Given the description of an element on the screen output the (x, y) to click on. 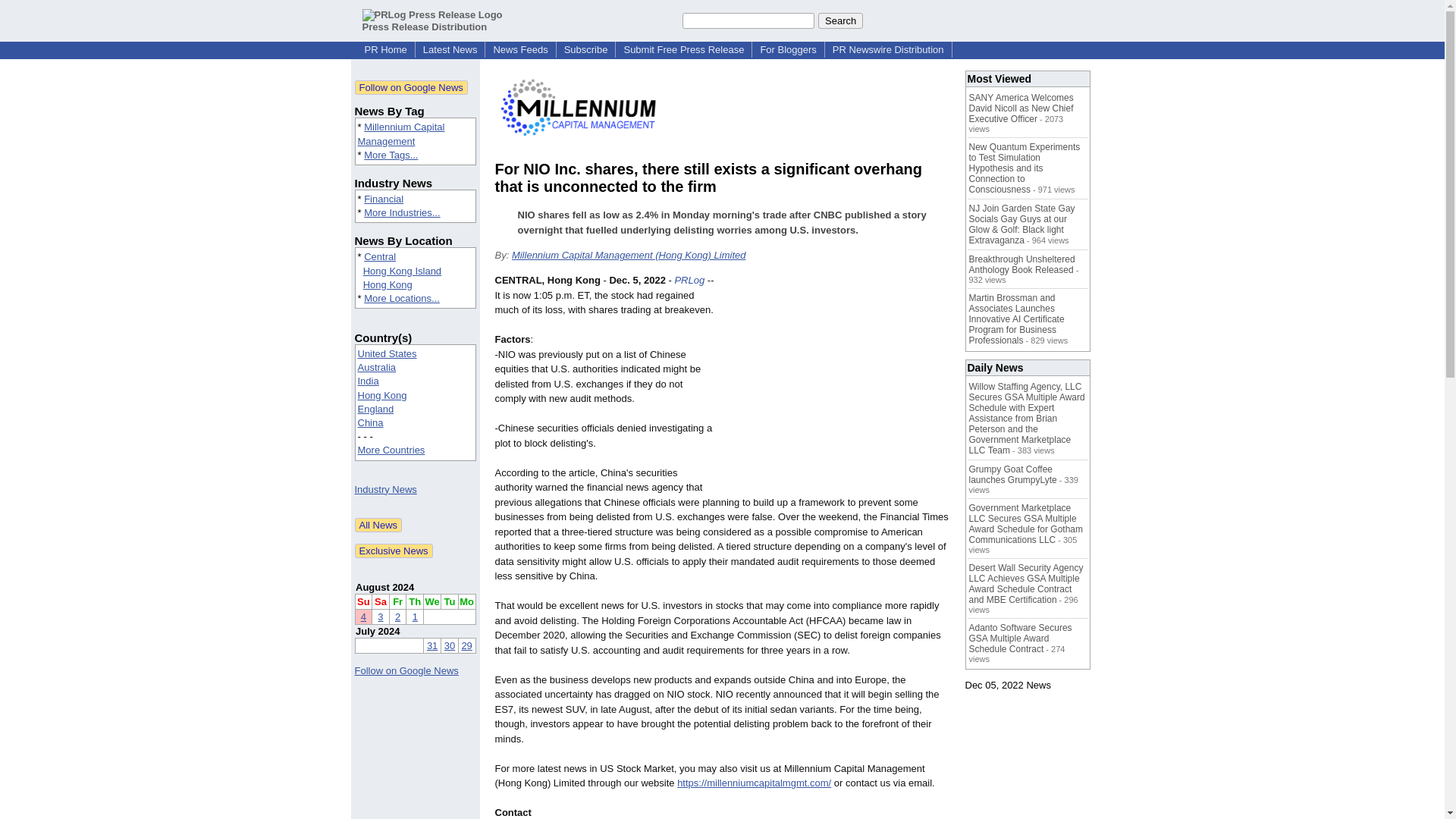
Exclusive News (393, 550)
Exclusive News (393, 550)
All News (379, 524)
United States (387, 353)
30 (449, 645)
PR Home (385, 49)
For Bloggers (788, 49)
PR Newswire Distribution (888, 49)
Hong Kong (382, 395)
Press Release Distribution (432, 20)
